Given the description of an element on the screen output the (x, y) to click on. 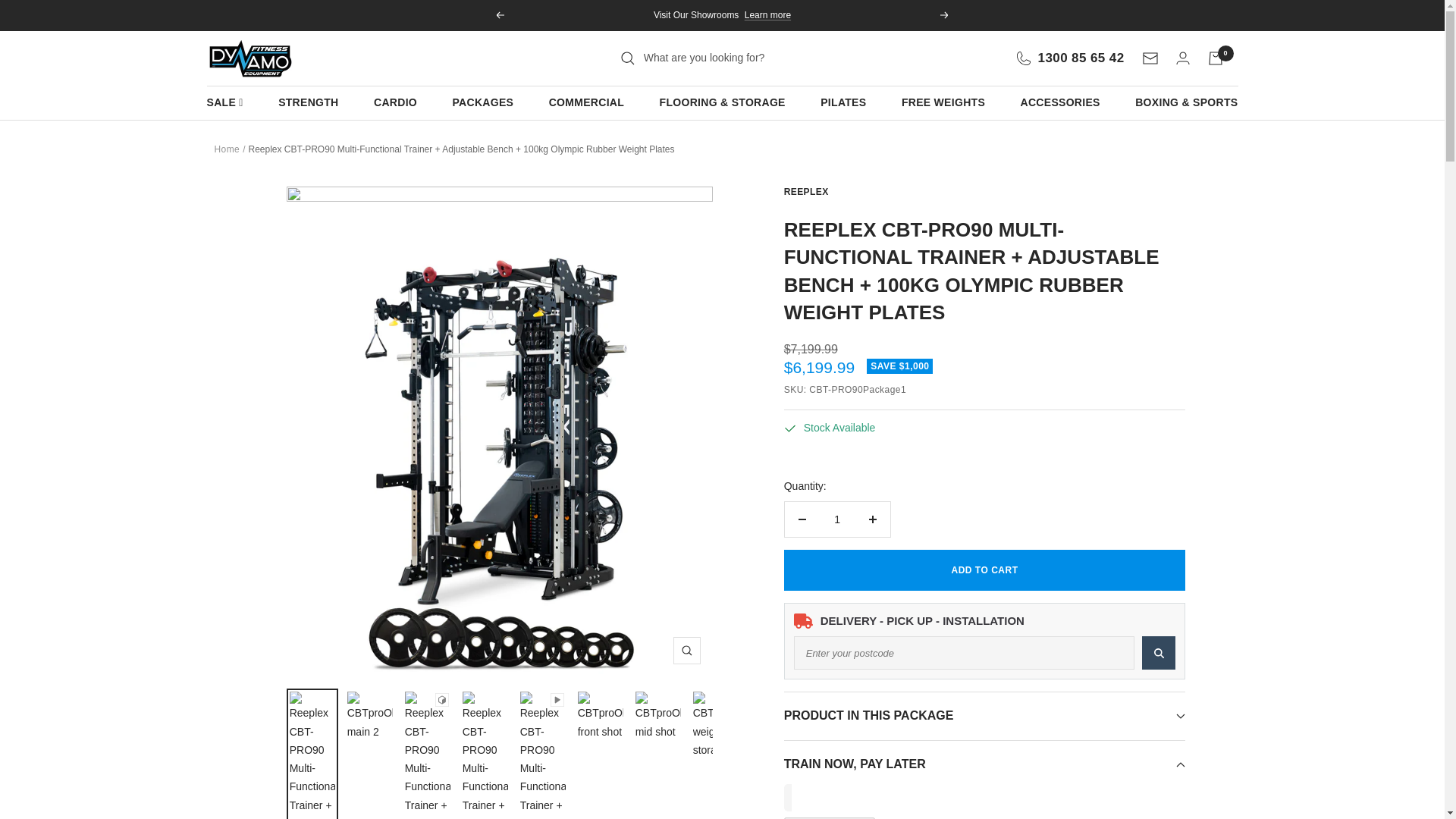
PACKAGES (482, 102)
Newsletter (1149, 58)
Previous (499, 14)
Learn more (767, 15)
STRENGTH (307, 102)
FREE WEIGHTS (943, 102)
ACCESSORIES (1060, 102)
Dynamo Fitness Equipment (250, 58)
1300 85 65 42 (1070, 58)
COMMERCIAL (586, 102)
